Given the description of an element on the screen output the (x, y) to click on. 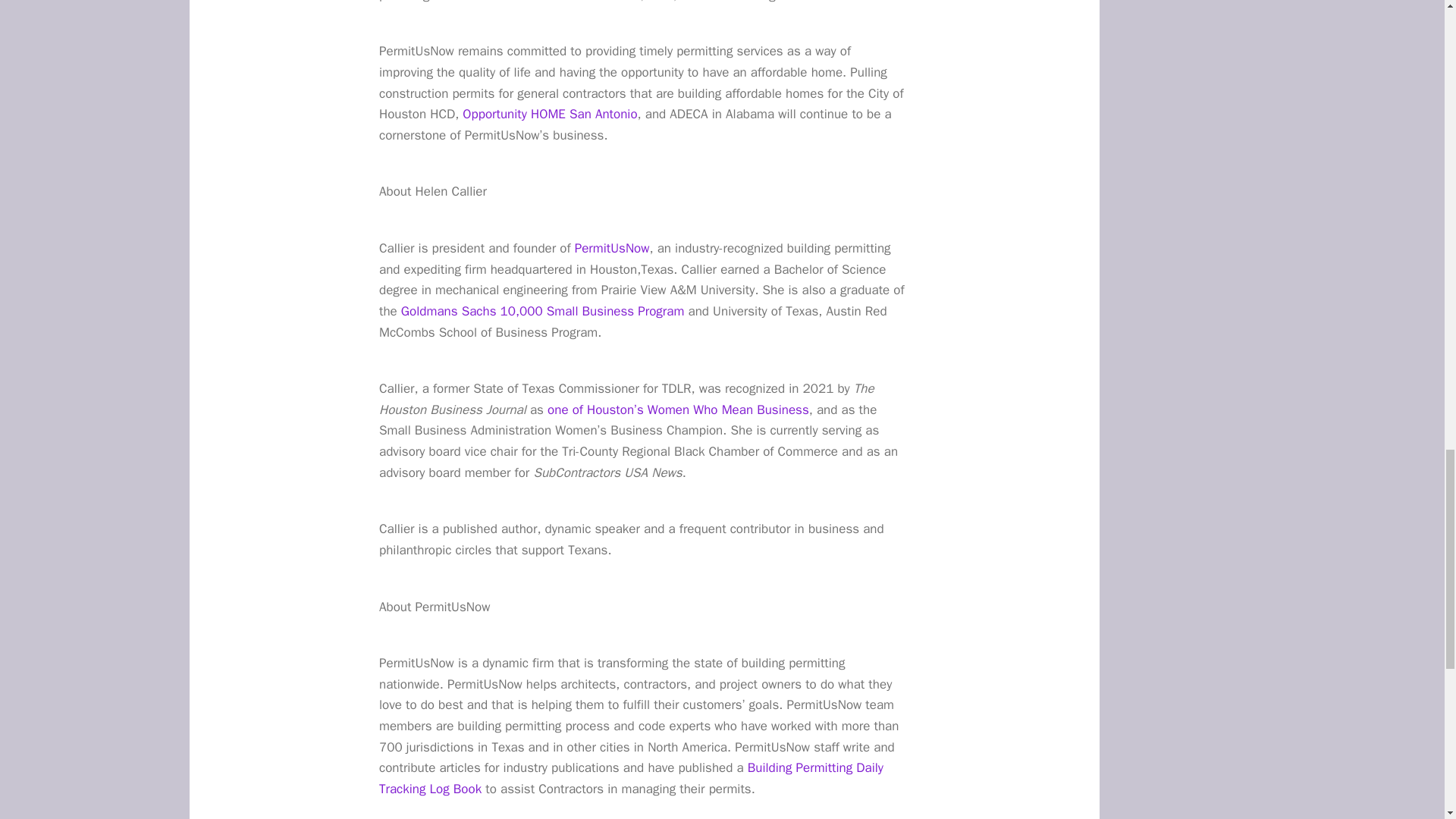
Building Permitting Daily Tracking Log Book (630, 778)
PermitUsNow (612, 248)
Opportunity HOME San Antonio (550, 114)
Goldmans Sachs 10,000 Small Business Program (542, 311)
